Given the description of an element on the screen output the (x, y) to click on. 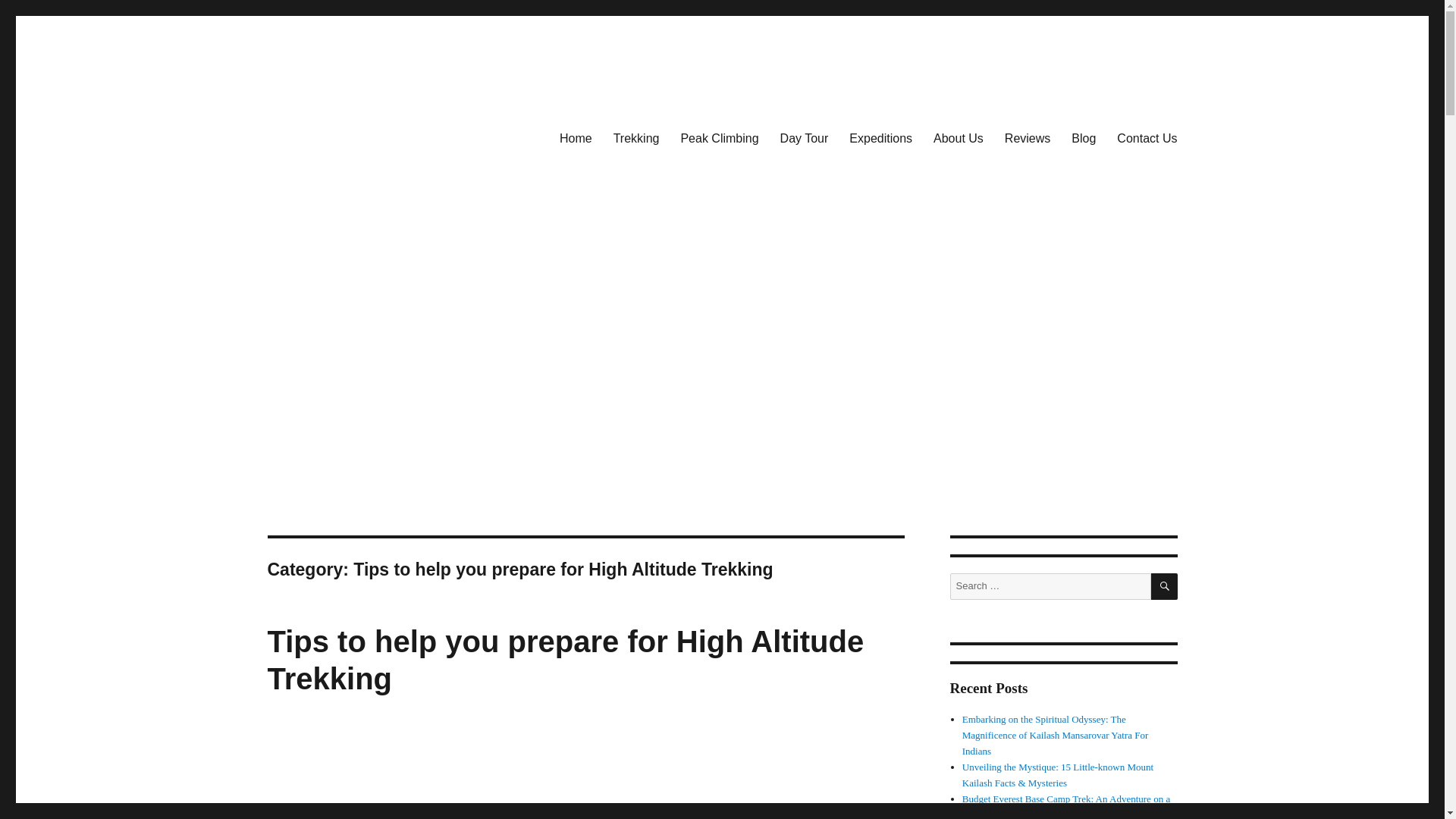
Alpha Adventure Treks (381, 199)
SEARCH (1164, 586)
Blog (1083, 138)
Day Tour (805, 138)
Home (575, 138)
Tips to help you prepare for High Altitude Trekking (564, 659)
About Us (958, 138)
Trekking (635, 138)
Expeditions (880, 138)
Peak Climbing (718, 138)
